Given the description of an element on the screen output the (x, y) to click on. 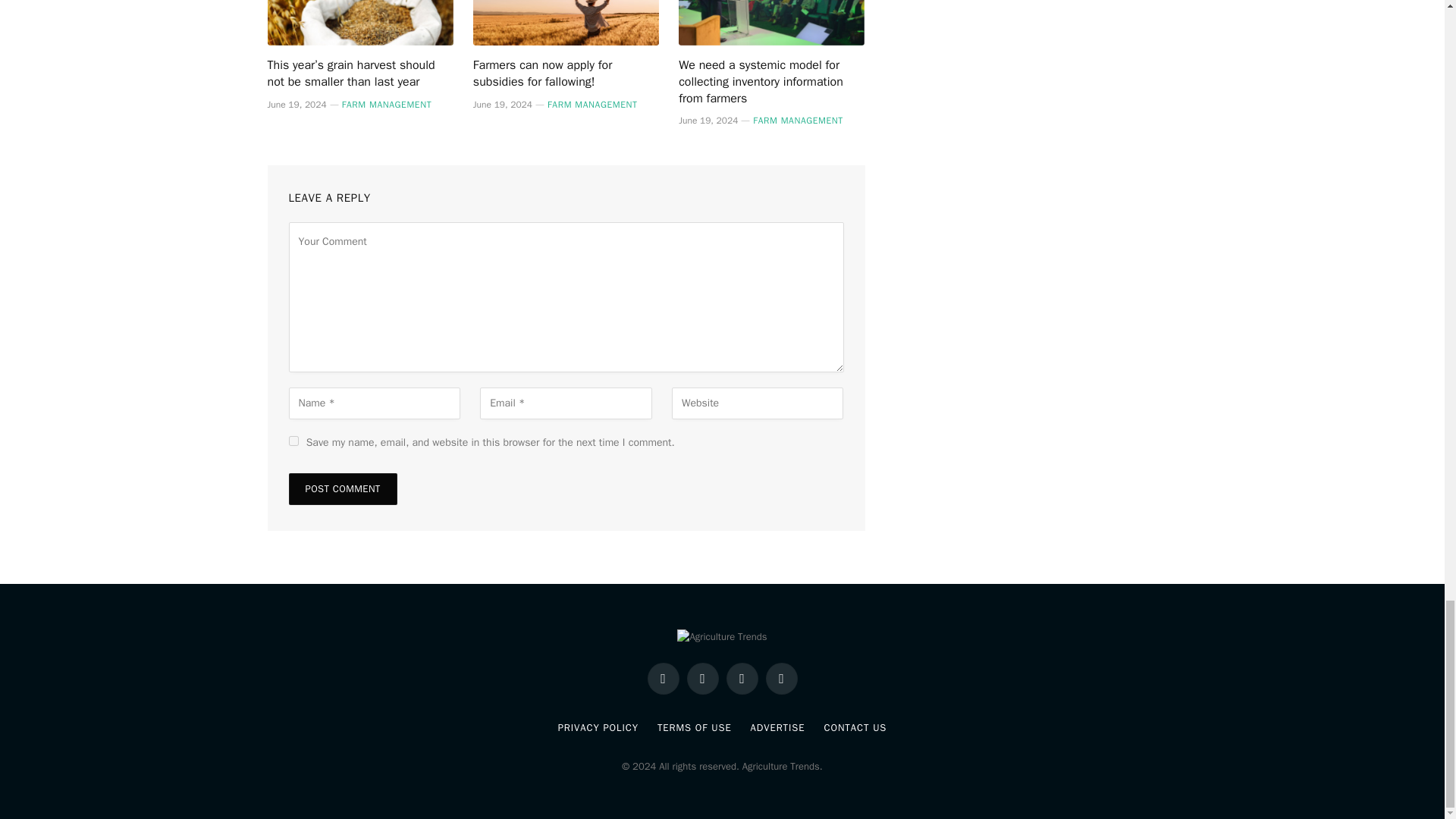
Post Comment (342, 489)
yes (293, 440)
